Given the description of an element on the screen output the (x, y) to click on. 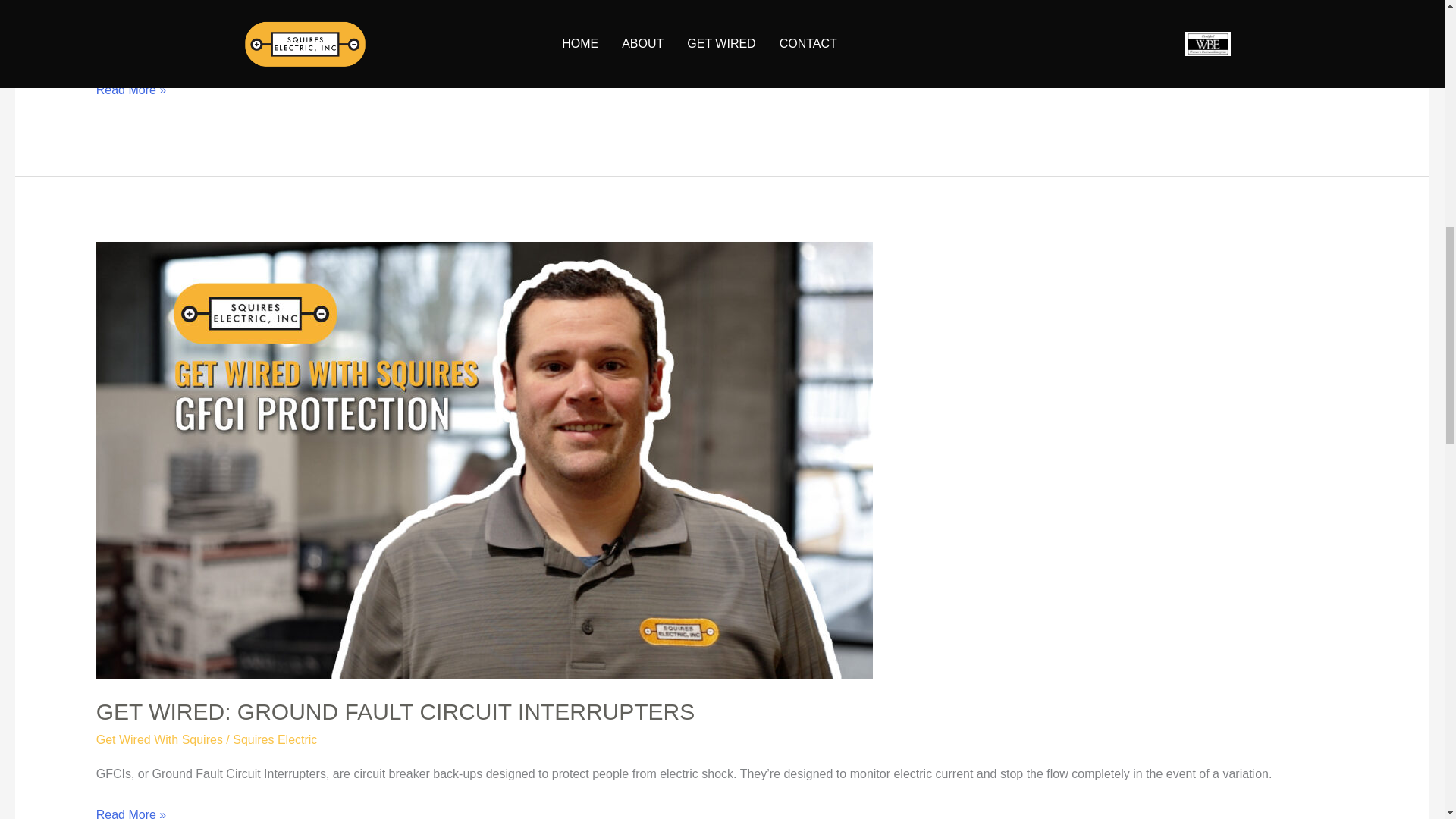
View all posts by Squires Electric (274, 739)
GET WIRED: GROUND FAULT CIRCUIT INTERRUPTERS (395, 711)
Get Wired With Squires (159, 739)
Squires Electric (274, 739)
